Given the description of an element on the screen output the (x, y) to click on. 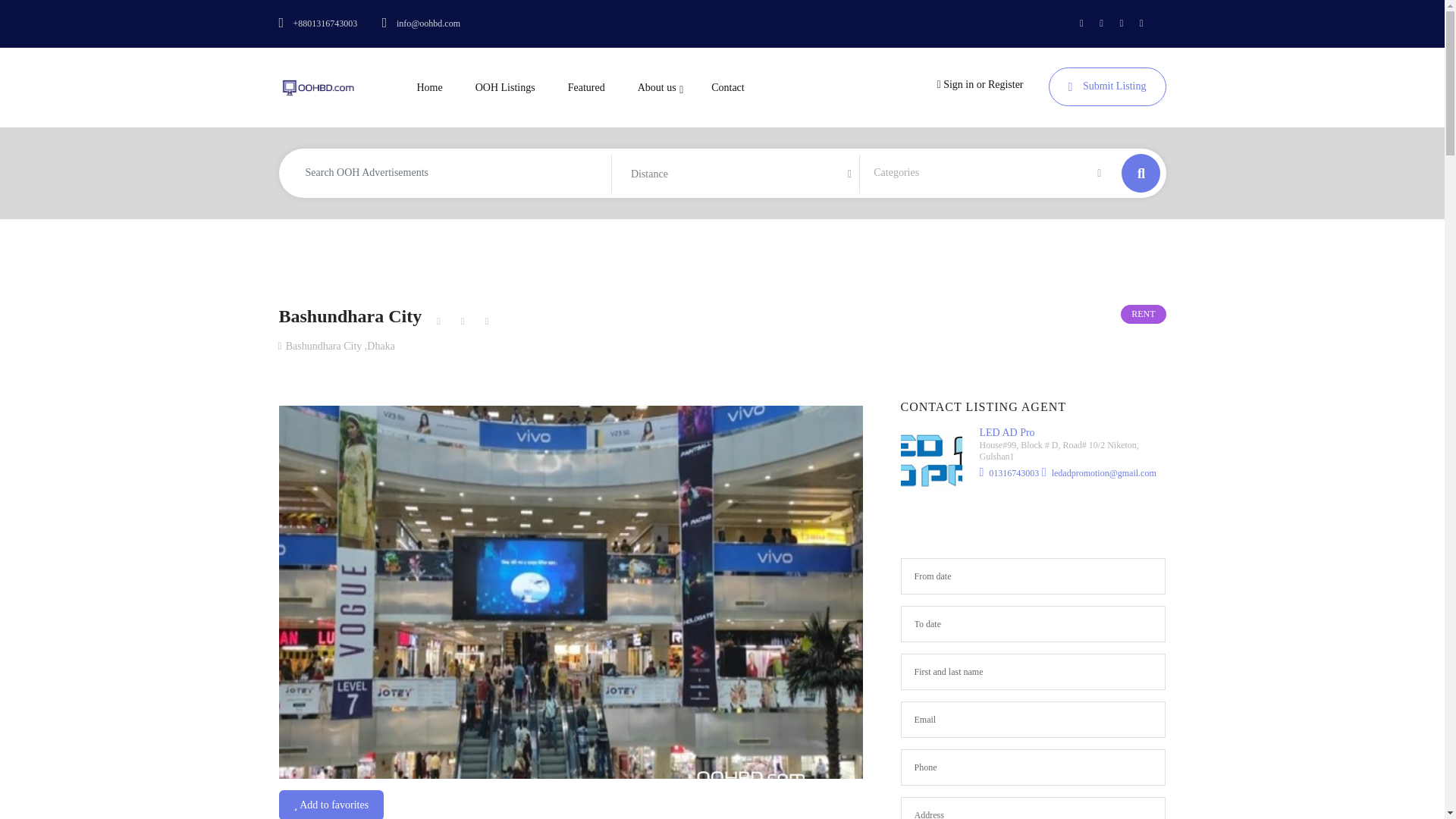
OOH Listings (504, 87)
Featured (586, 87)
Categories (975, 172)
Submit Listing (1107, 86)
About us (658, 87)
Register (1005, 84)
Bashundhara City (352, 315)
Sign in (959, 84)
Home (429, 87)
Add to favorites (331, 804)
Contact (727, 87)
